Given the description of an element on the screen output the (x, y) to click on. 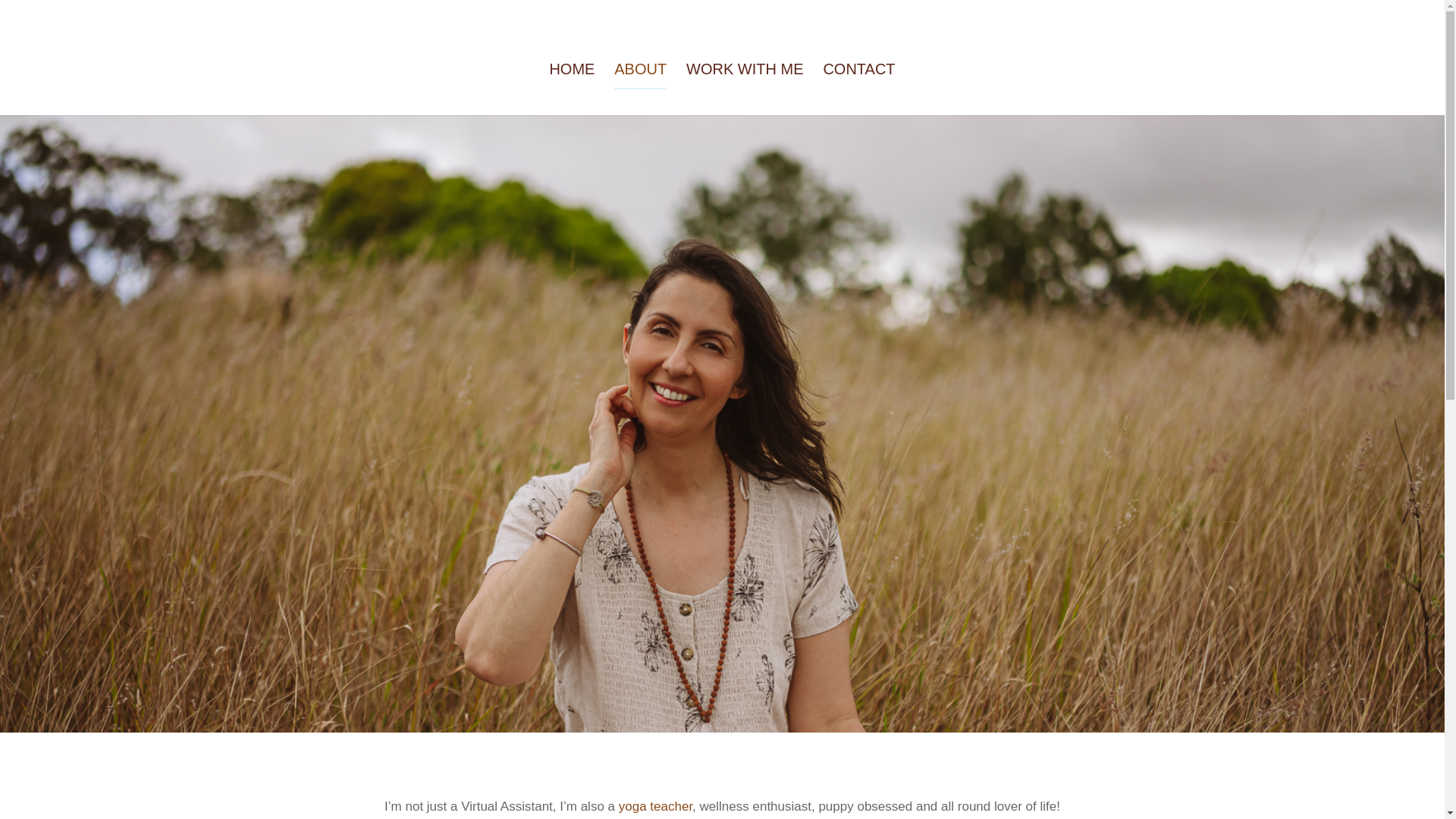
WORK WITH ME Element type: text (744, 89)
ABOUT Element type: text (640, 89)
yoga teacher Element type: text (655, 806)
HOME Element type: text (571, 89)
CONTACT Element type: text (858, 89)
